Given the description of an element on the screen output the (x, y) to click on. 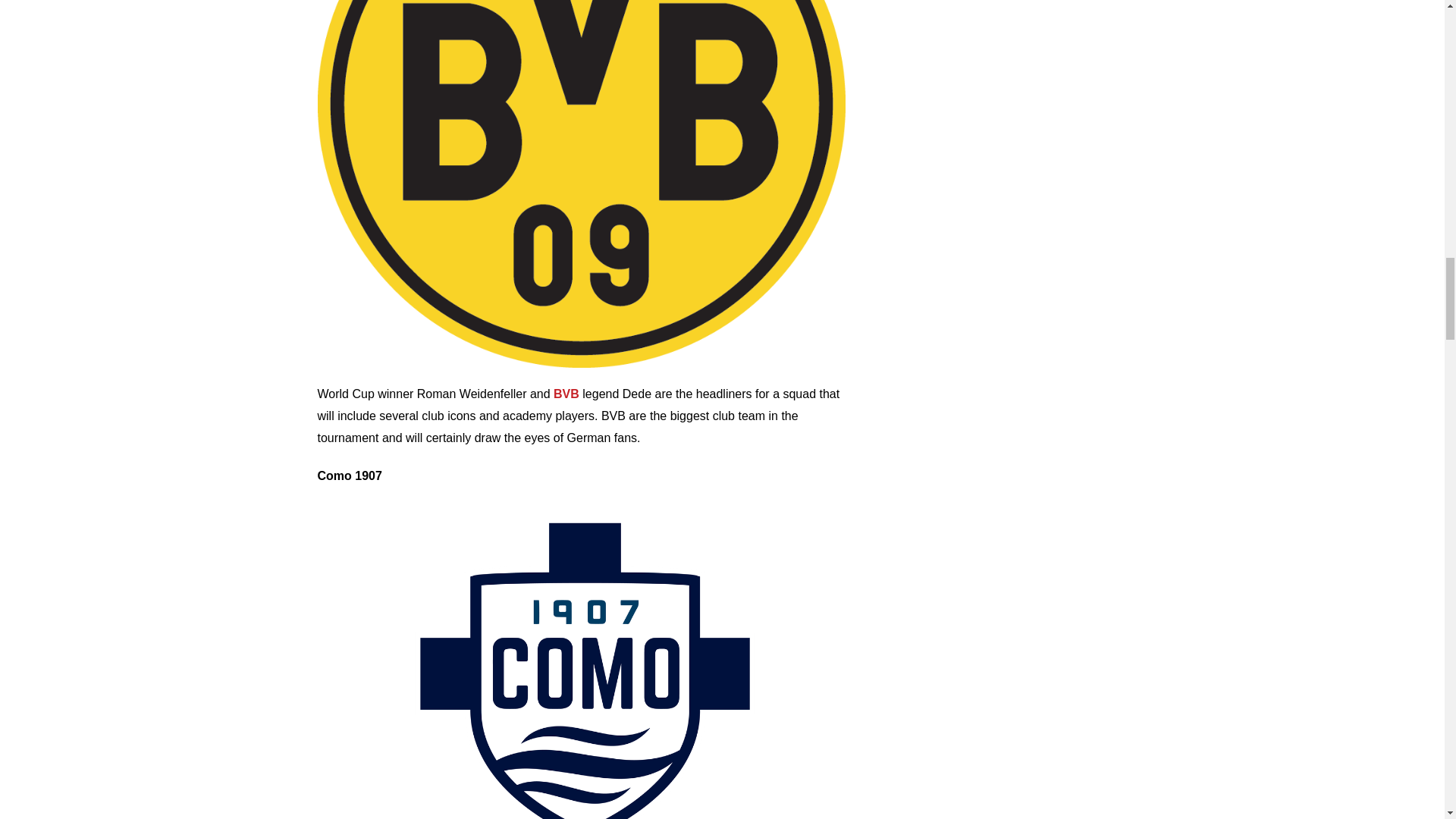
BVB (566, 393)
